Given the description of an element on the screen output the (x, y) to click on. 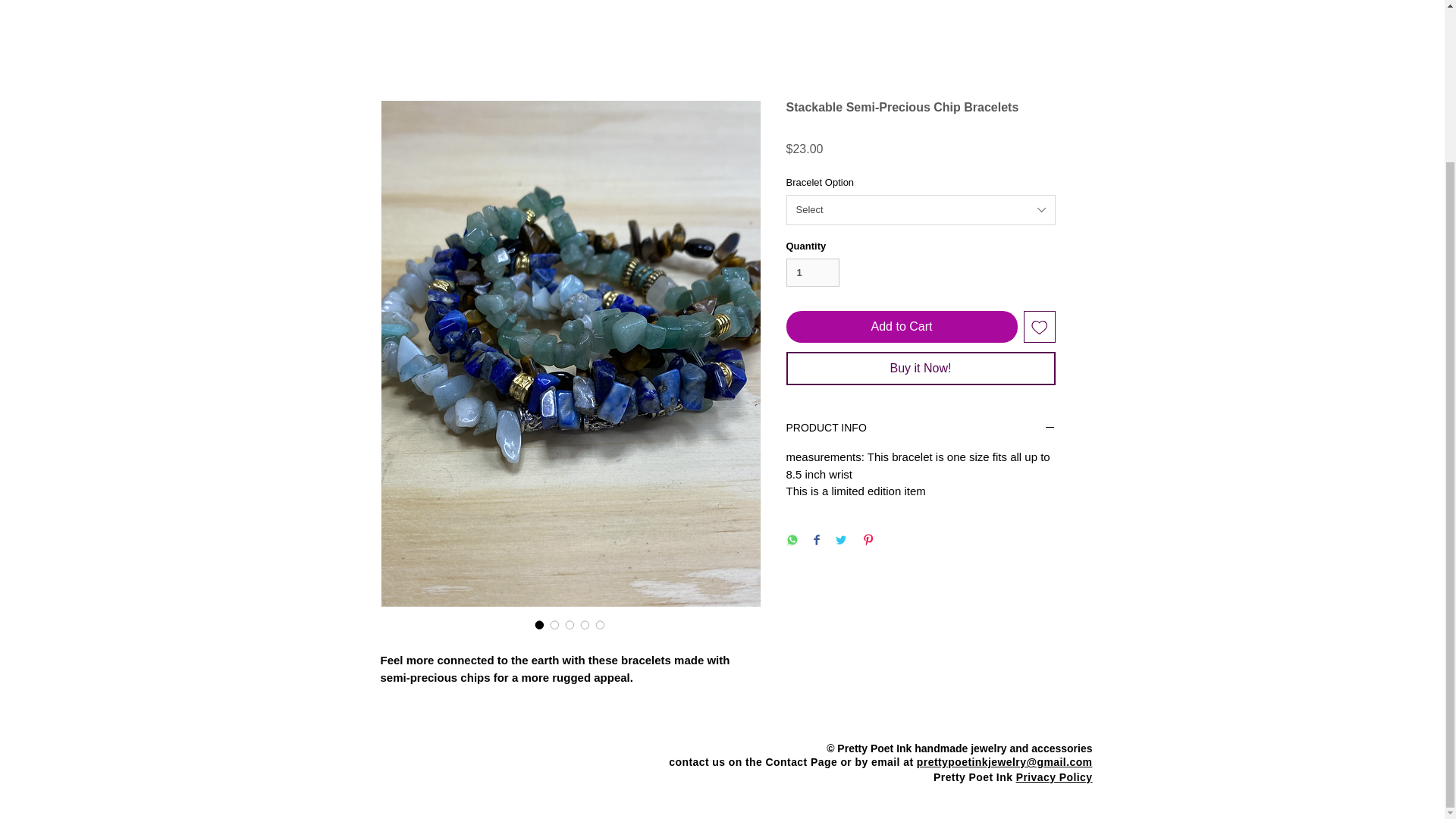
1 (813, 271)
Privacy Policy (1054, 776)
Select (920, 209)
Buy it Now! (920, 368)
PRODUCT INFO (920, 428)
Add to Cart (901, 327)
